Given the description of an element on the screen output the (x, y) to click on. 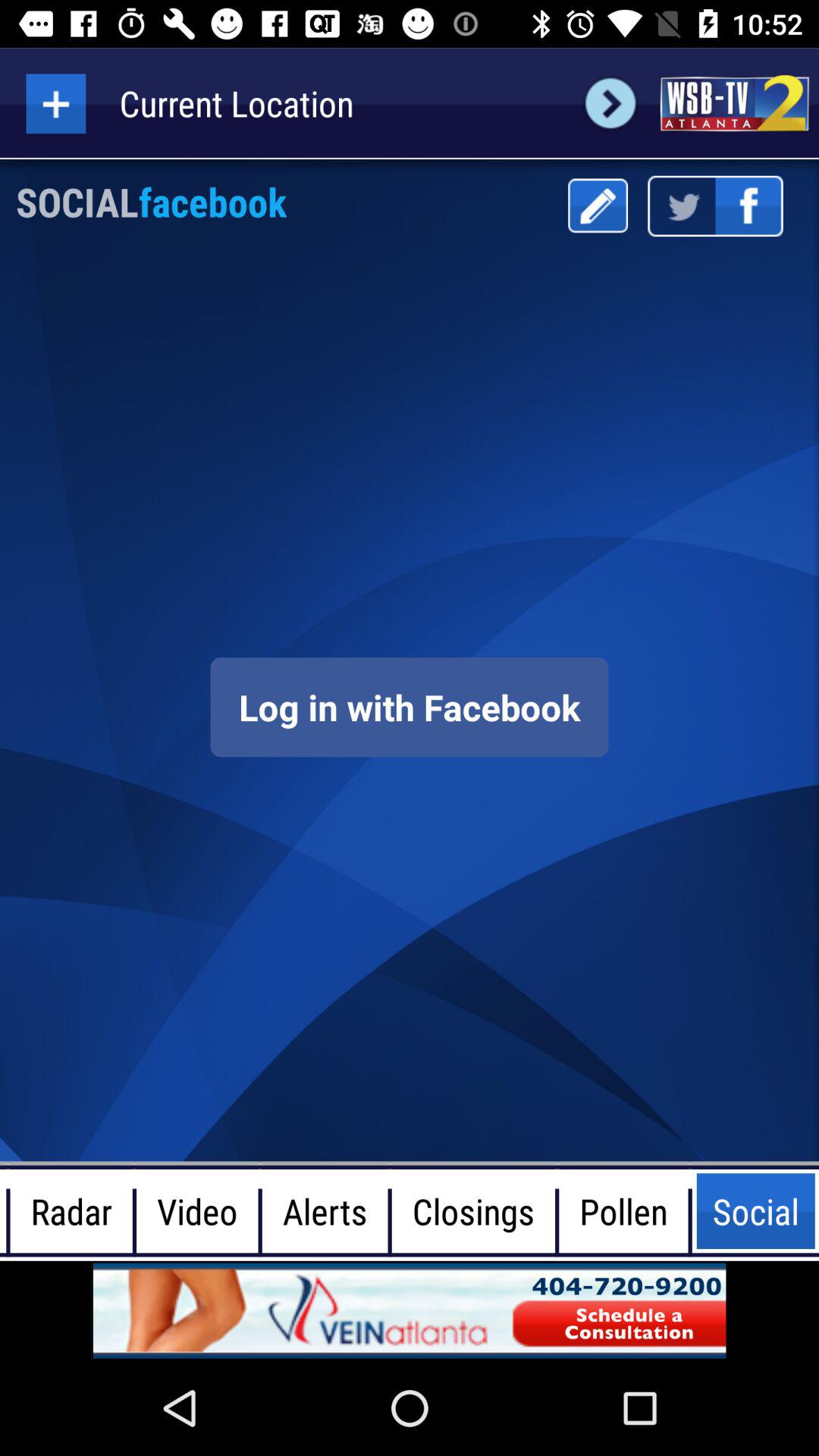
news page (734, 103)
